Given the description of an element on the screen output the (x, y) to click on. 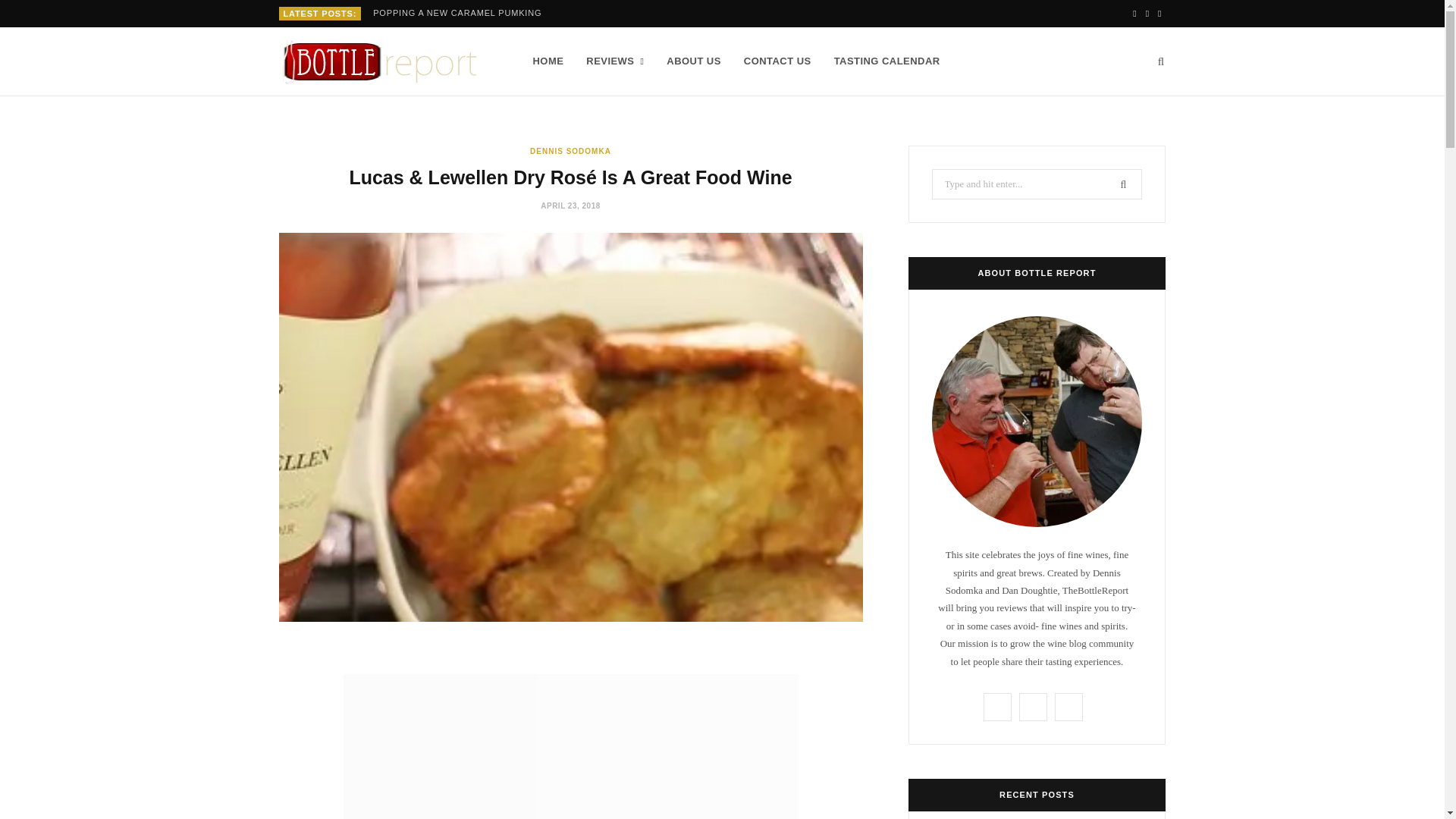
ABOUT US (693, 61)
Bottle Report (381, 62)
POPPING A NEW CARAMEL PUMKING (460, 12)
REVIEWS (615, 61)
CONTACT US (777, 61)
DENNIS SODOMKA (570, 151)
Popping a new Caramel Pumking (460, 12)
TASTING CALENDAR (887, 61)
APRIL 23, 2018 (569, 205)
